Given the description of an element on the screen output the (x, y) to click on. 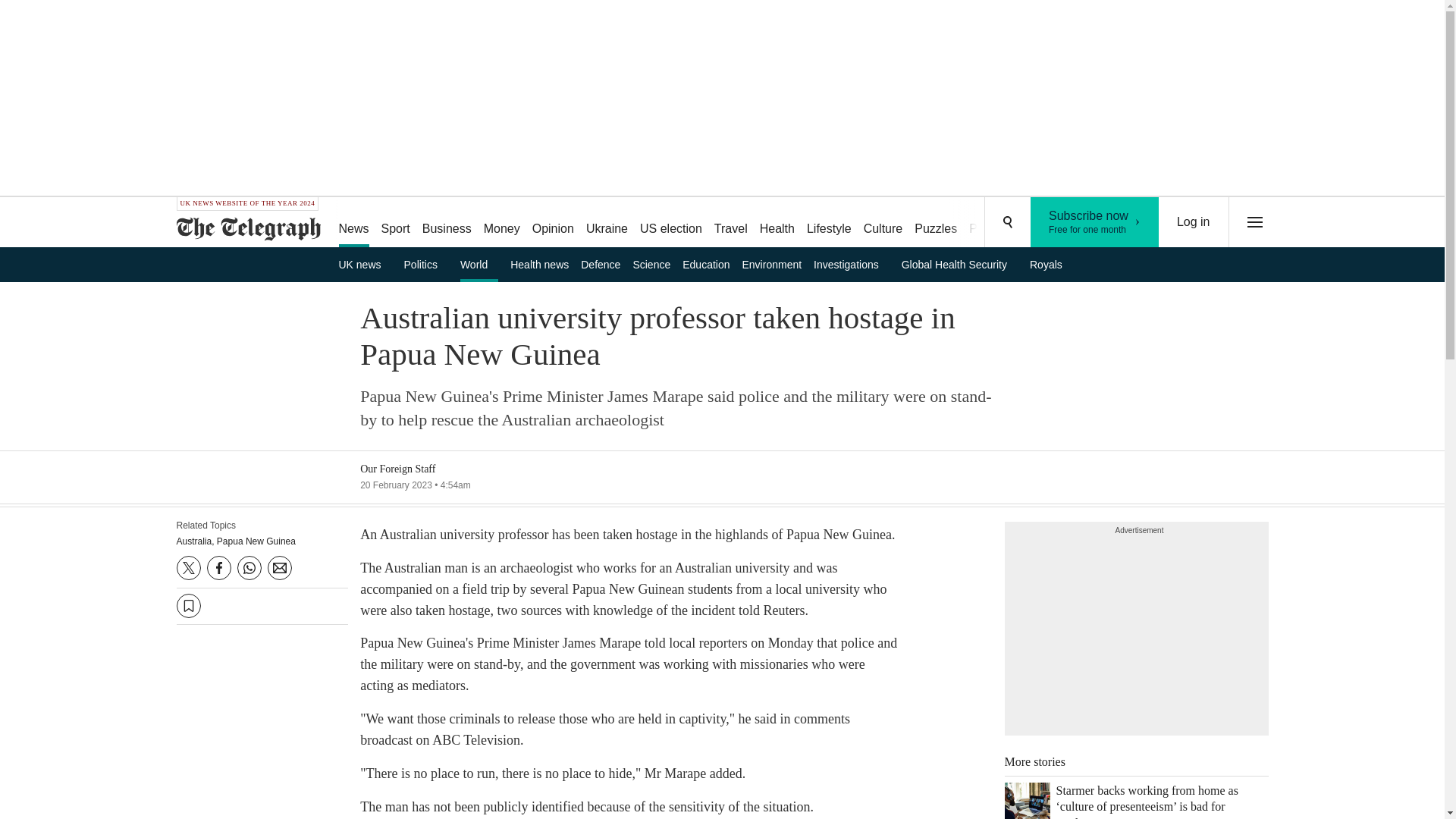
Travel (730, 223)
Lifestyle (828, 223)
Puzzles (935, 223)
Money (501, 223)
Ukraine (606, 223)
UK news (364, 264)
Podcasts (1094, 222)
Business (993, 223)
Health (446, 223)
